Given the description of an element on the screen output the (x, y) to click on. 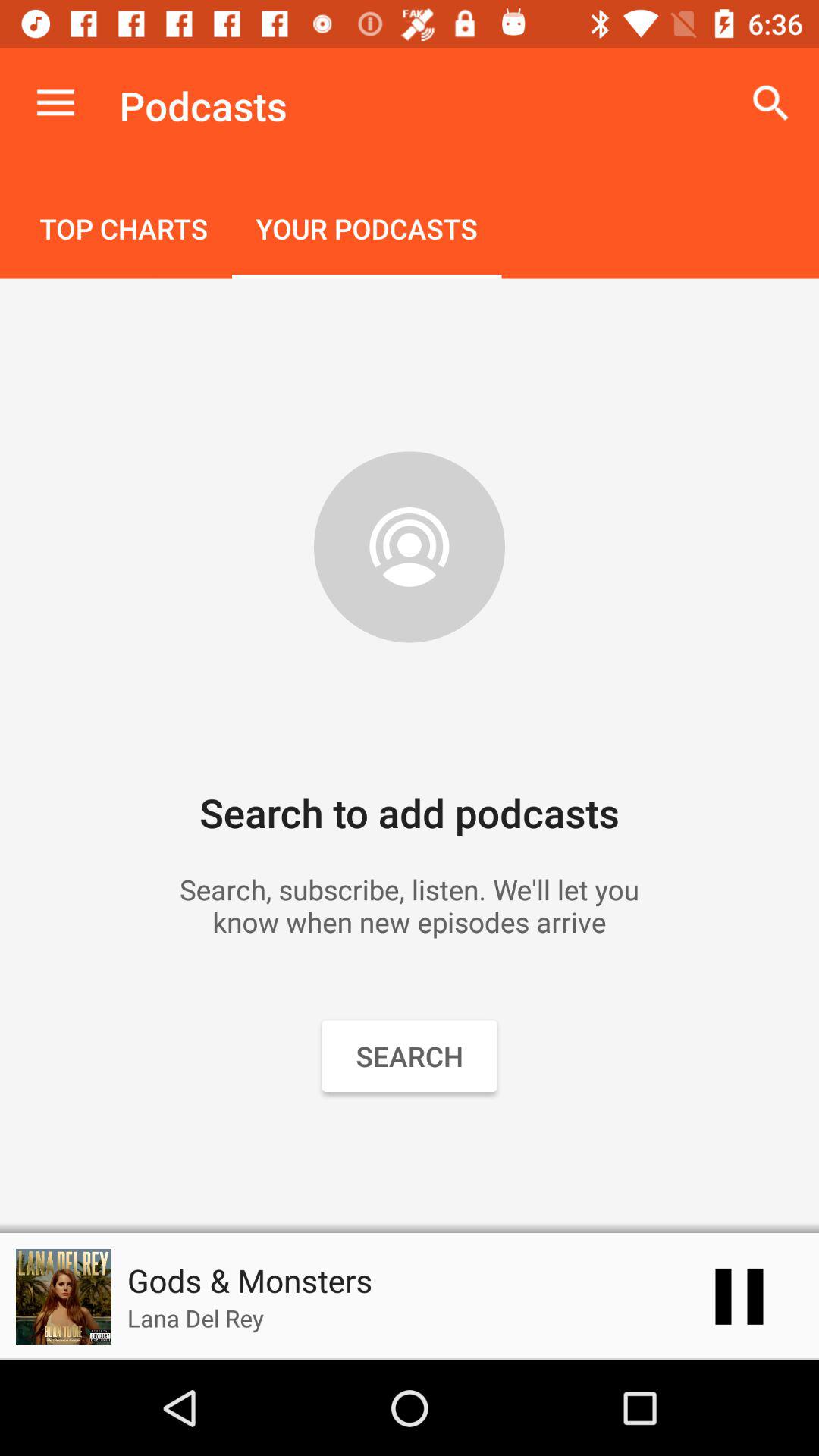
open the item to the right of the gods & monsters item (739, 1296)
